Given the description of an element on the screen output the (x, y) to click on. 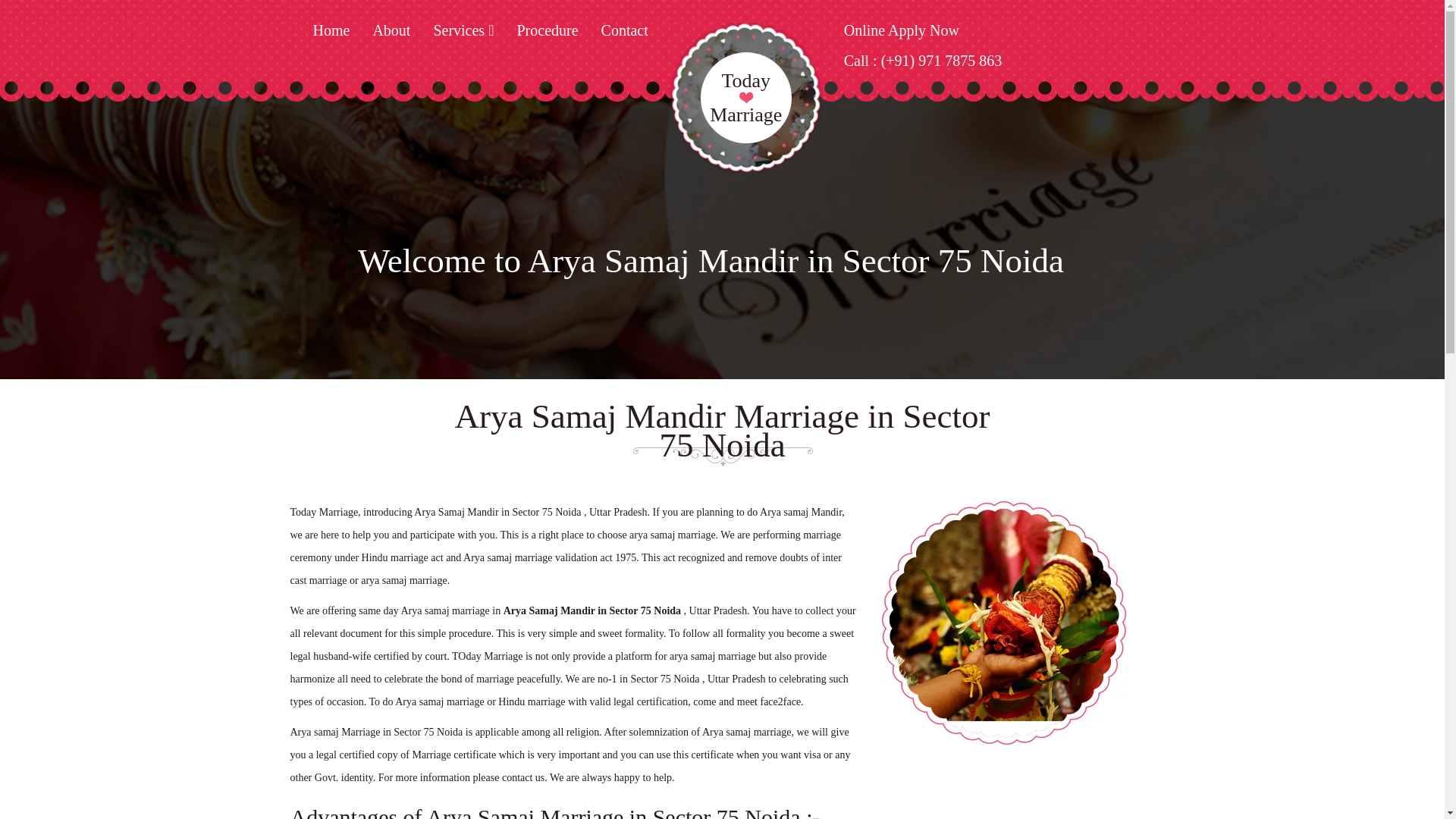
Procedure (547, 37)
About (391, 37)
Online Apply Now (901, 37)
Today Marriage (718, 72)
Home (331, 37)
Arya Samaj Mandir in Sector 75 Noida  (1002, 622)
Contact (624, 37)
Services (463, 37)
Arya Samaj Mandir in Sector 75 Noida  (745, 97)
